Given the description of an element on the screen output the (x, y) to click on. 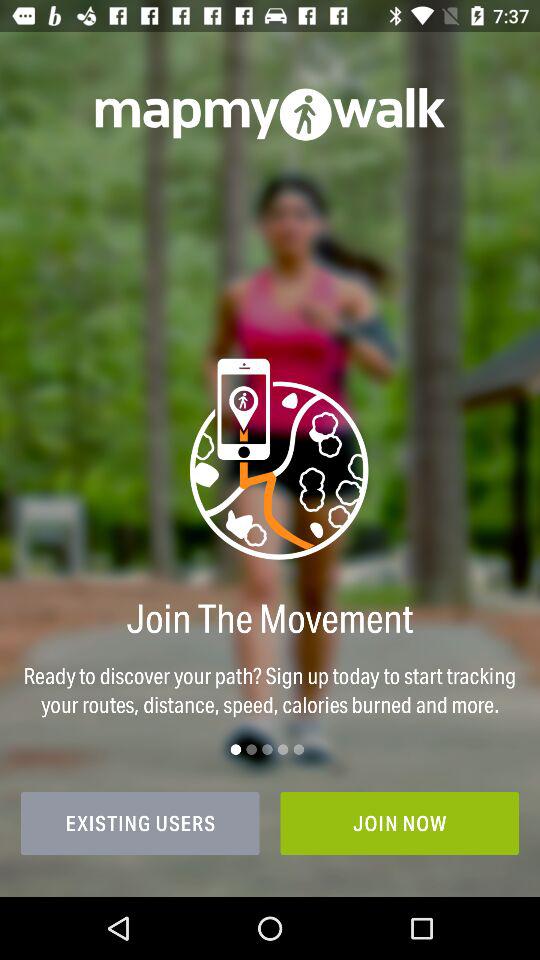
choose item at the bottom right corner (399, 823)
